Given the description of an element on the screen output the (x, y) to click on. 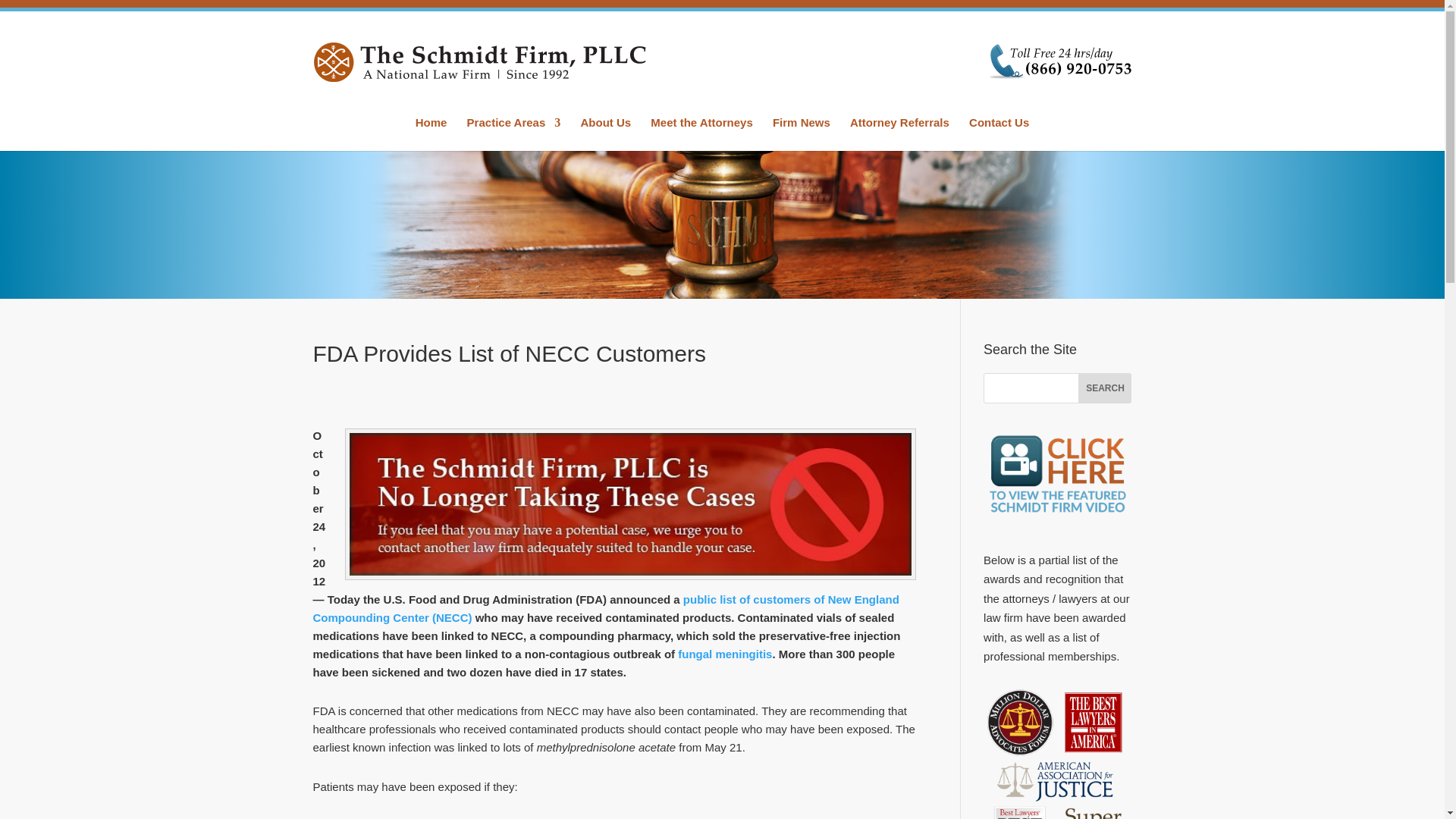
Meet the Attorneys (701, 133)
Fungal Meningitis Lawsuit (724, 653)
Contact Us (999, 133)
fungal meningitis (724, 653)
Practice Areas (513, 133)
Attorney Referrals (899, 133)
Search (1104, 388)
Search (1104, 388)
About Us (604, 133)
Firm News (801, 133)
